Given the description of an element on the screen output the (x, y) to click on. 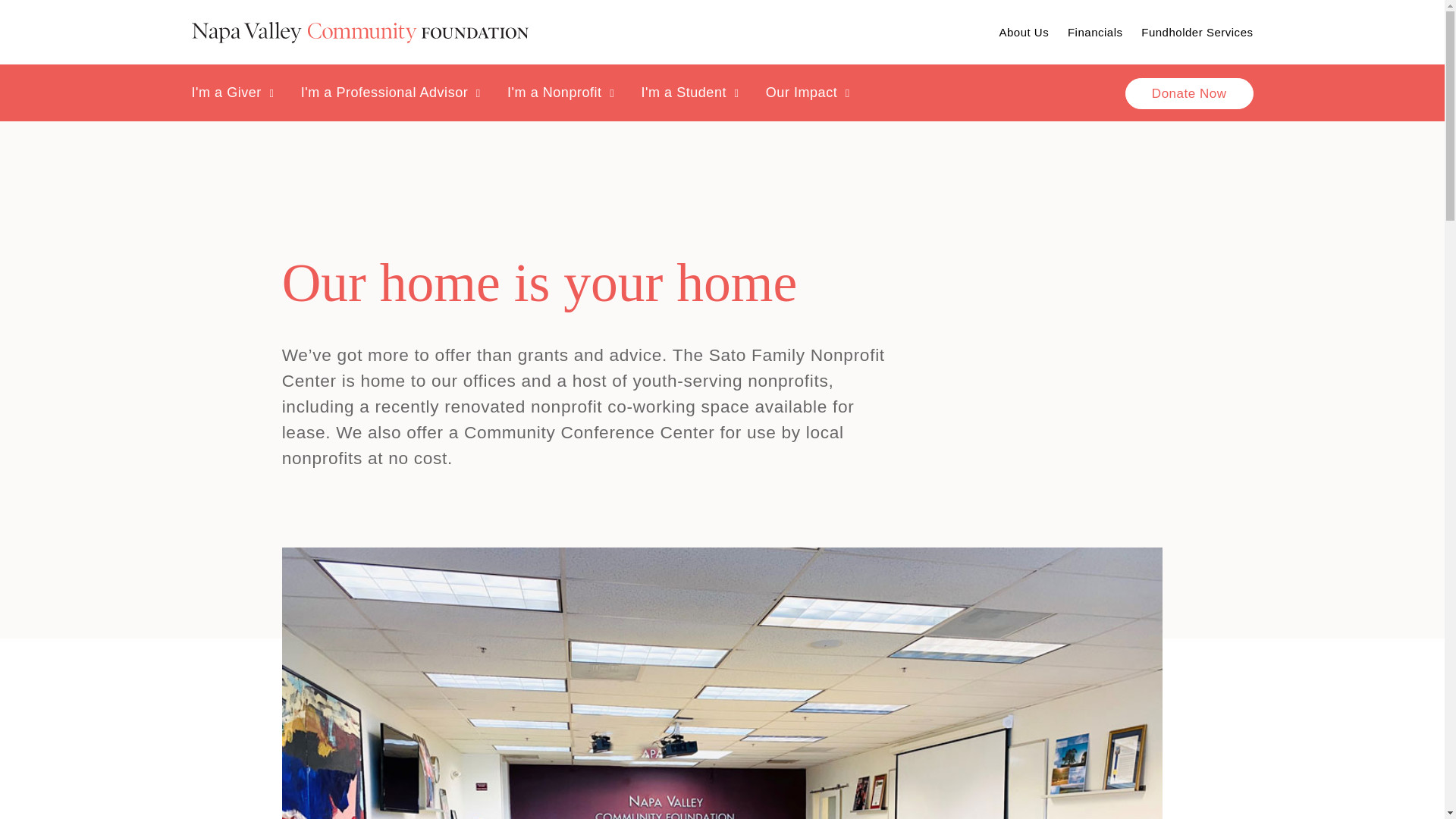
Donate Now (1189, 92)
I'm a Giver (231, 92)
I'm a Student (689, 92)
I'm a Professional Advisor (390, 92)
I'm a Nonprofit (560, 92)
Napa Valley Community Foundation (358, 32)
About Us (1023, 31)
Our Impact (807, 92)
Fundholder Services (1196, 31)
Financials (1094, 31)
